Given the description of an element on the screen output the (x, y) to click on. 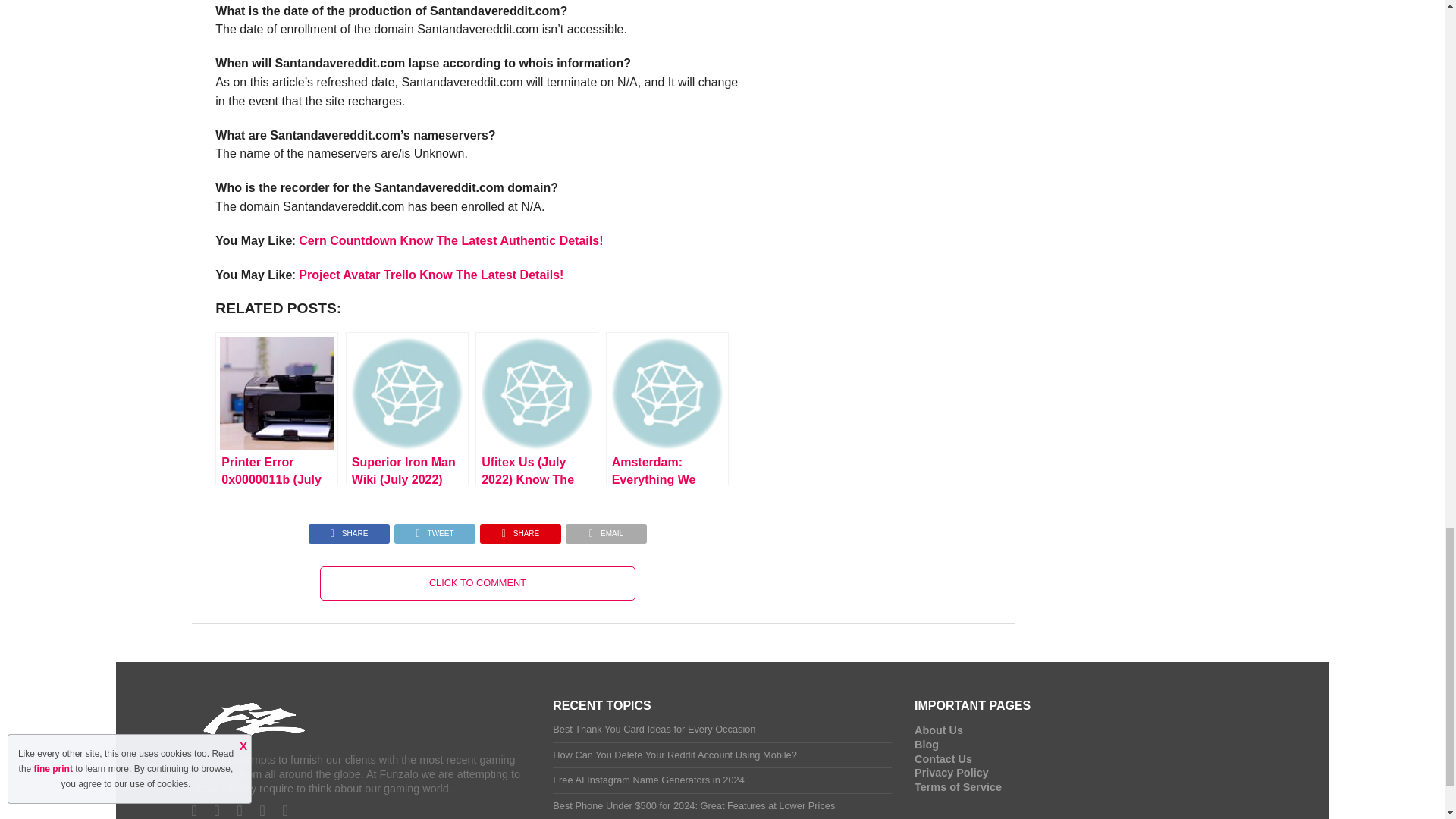
Project Avatar Trello Know The Latest Details! (430, 274)
Cern Countdown Know The Latest Authentic Details! (450, 240)
Share on Facebook (349, 529)
TWEET (434, 529)
SHARE (349, 529)
